Given the description of an element on the screen output the (x, y) to click on. 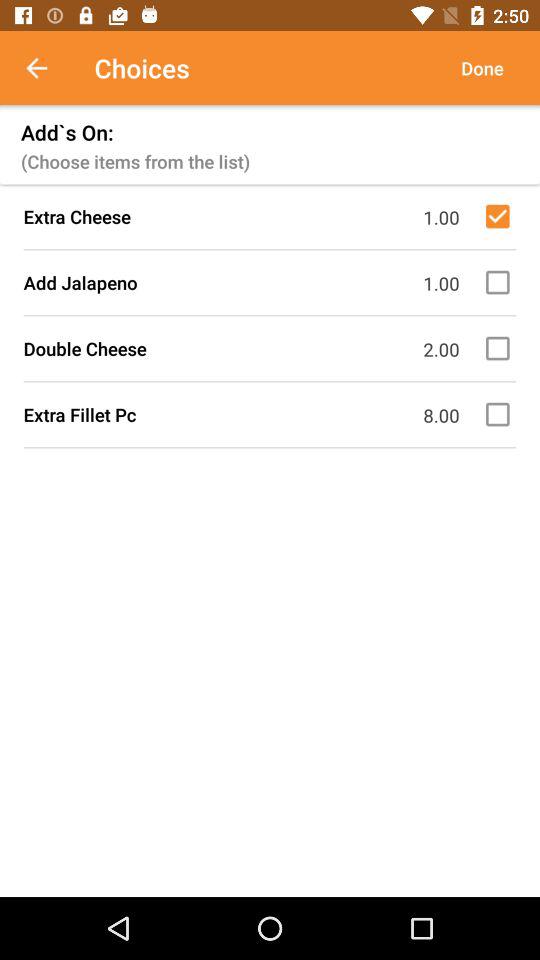
option extra fillet pc number eight dolars (501, 414)
